Given the description of an element on the screen output the (x, y) to click on. 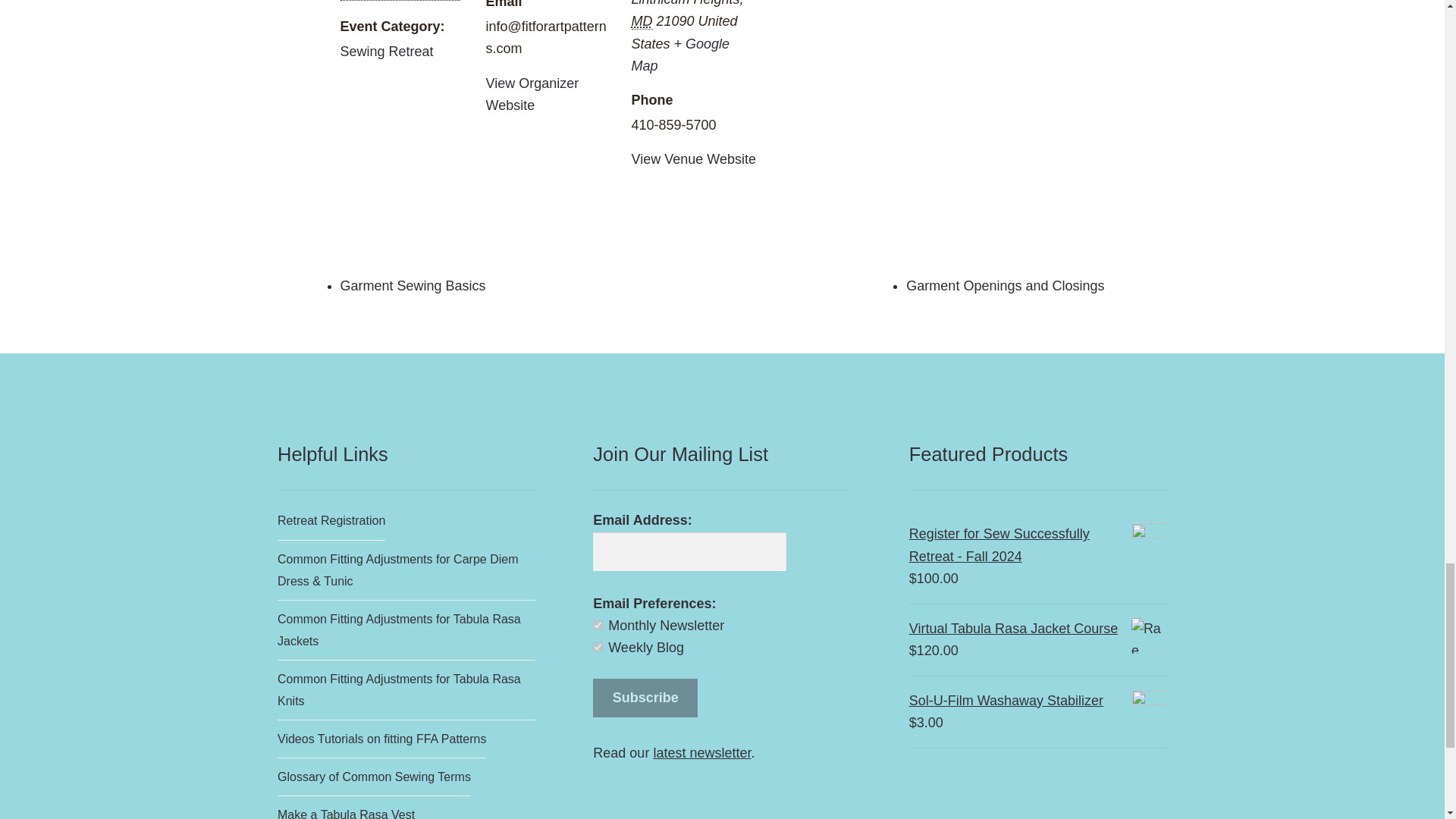
Click to view a Google Map (679, 54)
2 (597, 646)
1 (597, 624)
Subscribe (644, 697)
Maryland (641, 21)
